Given the description of an element on the screen output the (x, y) to click on. 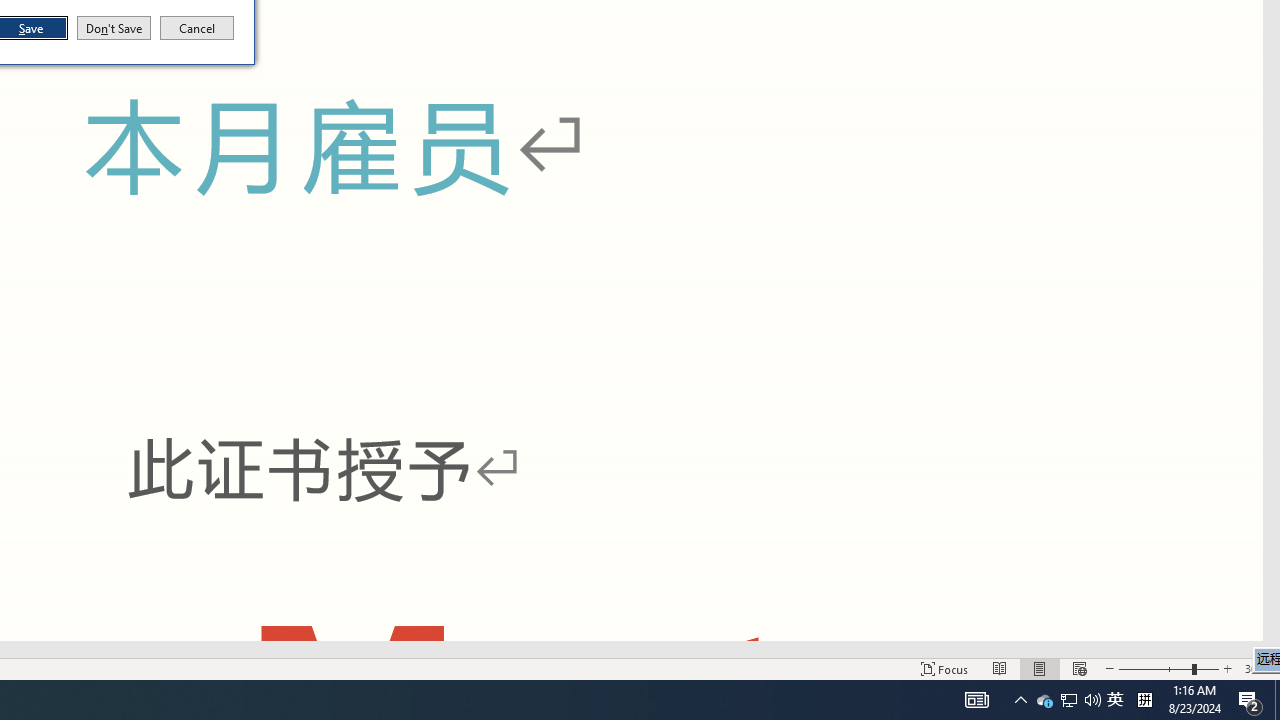
Tray Input Indicator - Chinese (Simplified, China) (1115, 699)
Don't Save (1144, 699)
